Given the description of an element on the screen output the (x, y) to click on. 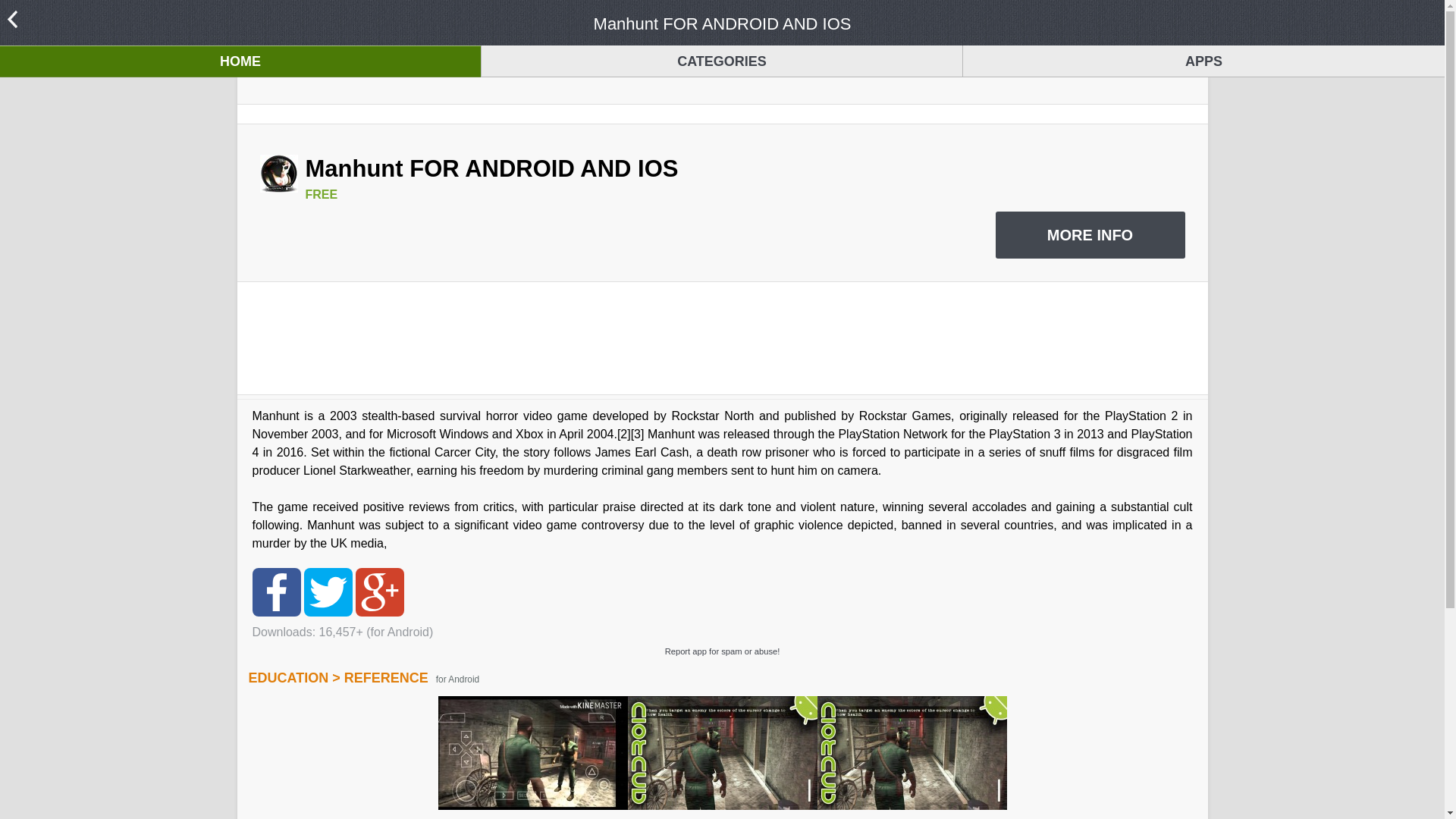
CATEGORIES (721, 60)
EDUCATION (288, 677)
Share on Facebook (275, 590)
Report app for spam or abuse! (721, 650)
Tweet (328, 590)
MORE INFO (1089, 234)
HOME (240, 60)
REFERENCE (385, 677)
